Given the description of an element on the screen output the (x, y) to click on. 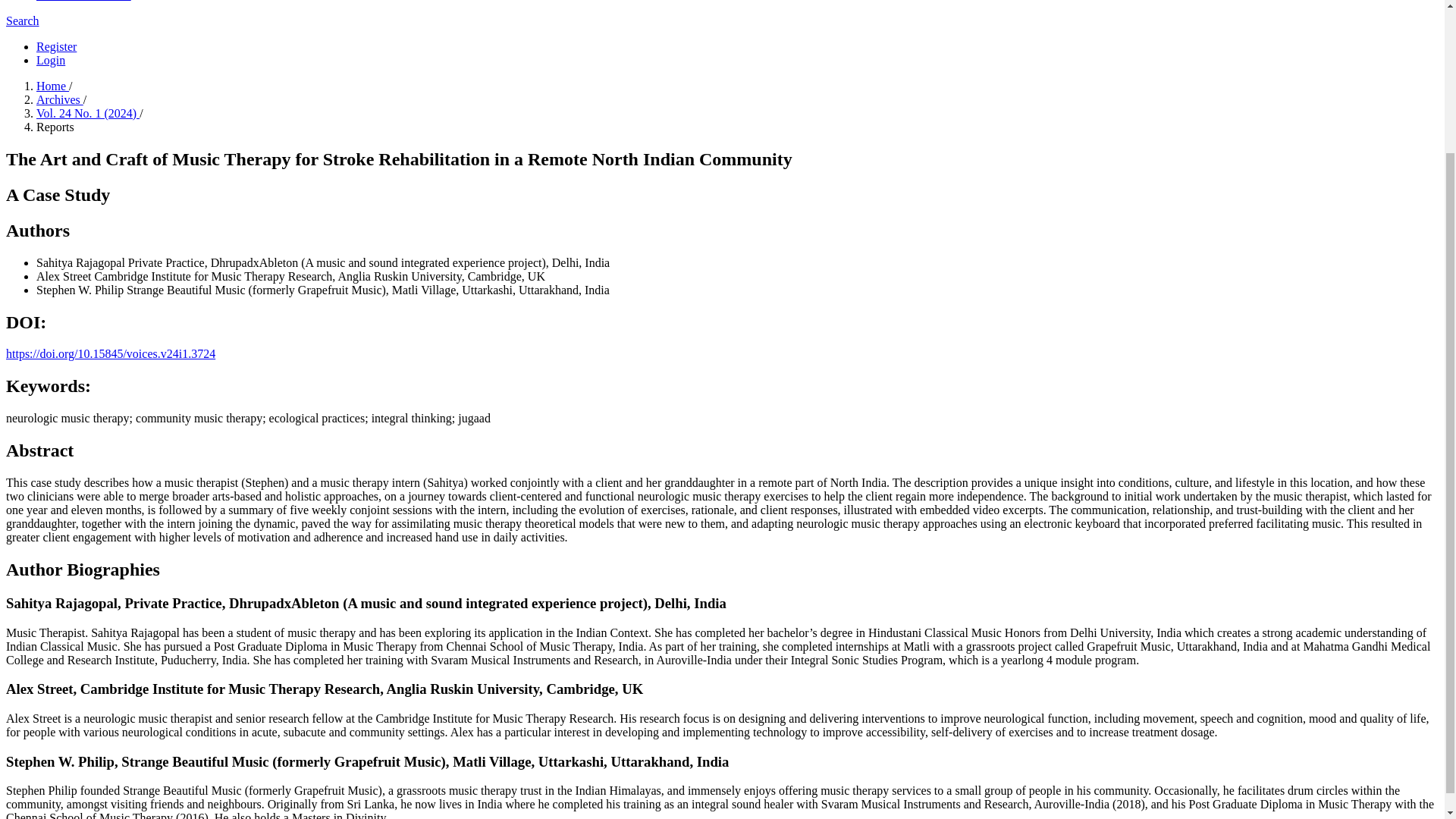
Login (50, 60)
Global Voices Wiki (83, 0)
Search (22, 20)
Archives (59, 99)
Register (56, 46)
Home (52, 85)
